Given the description of an element on the screen output the (x, y) to click on. 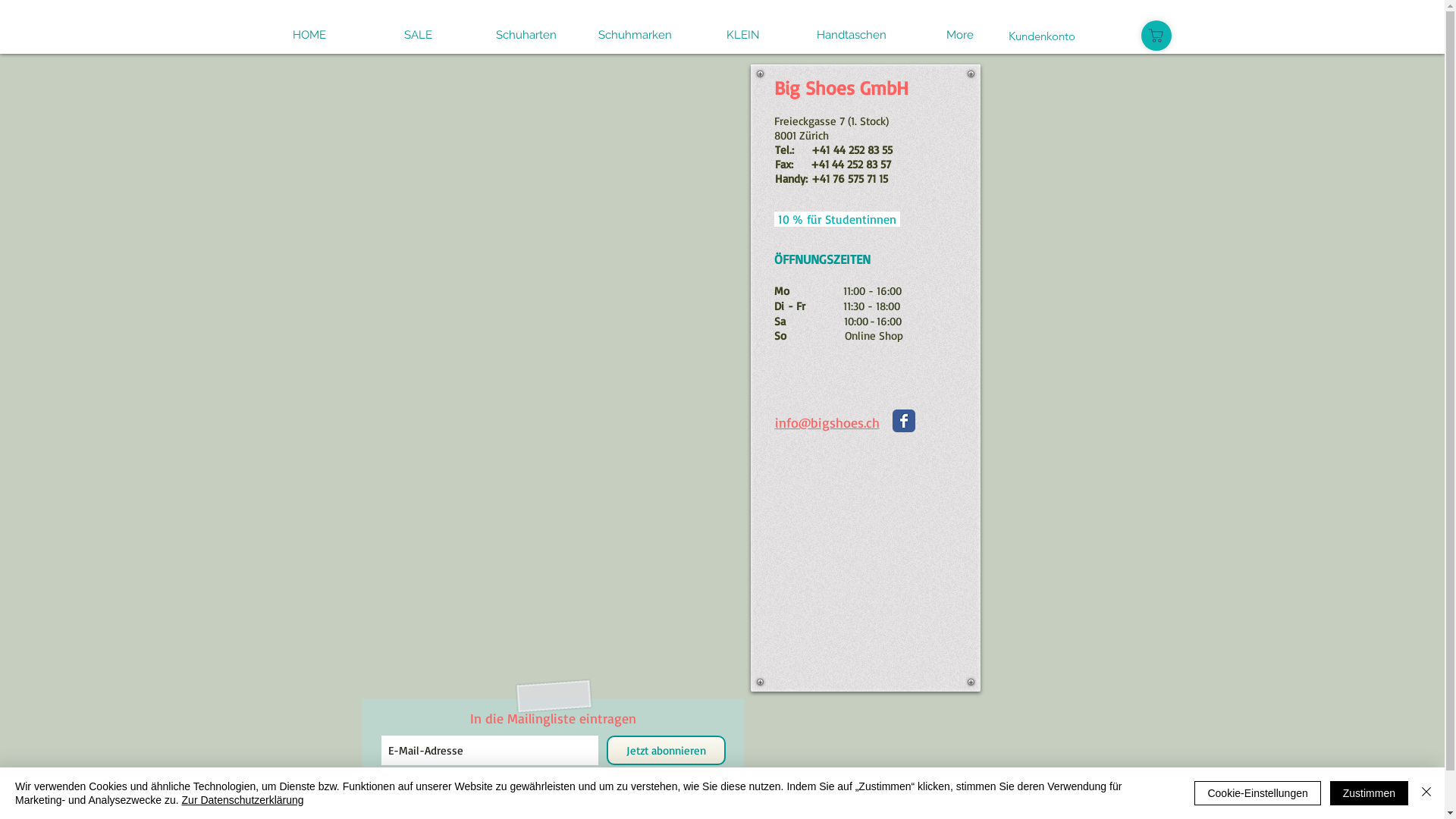
Jetzt abonnieren Element type: text (665, 750)
i Element type: text (776, 422)
Zustimmen Element type: text (1369, 793)
SALE Element type: text (418, 35)
Kundenkonto Element type: text (1041, 34)
Tel.:     +41 44 252 83 55 Element type: text (833, 149)
nfo@bigshoes.ch Element type: text (828, 422)
HOME Element type: text (308, 35)
Cookie-Einstellungen Element type: text (1257, 793)
123 Form Builder & Payments Element type: hover (546, 359)
KLEIN Element type: text (742, 35)
Google Maps Element type: hover (865, 574)
Handtaschen Element type: text (851, 35)
